Given the description of an element on the screen output the (x, y) to click on. 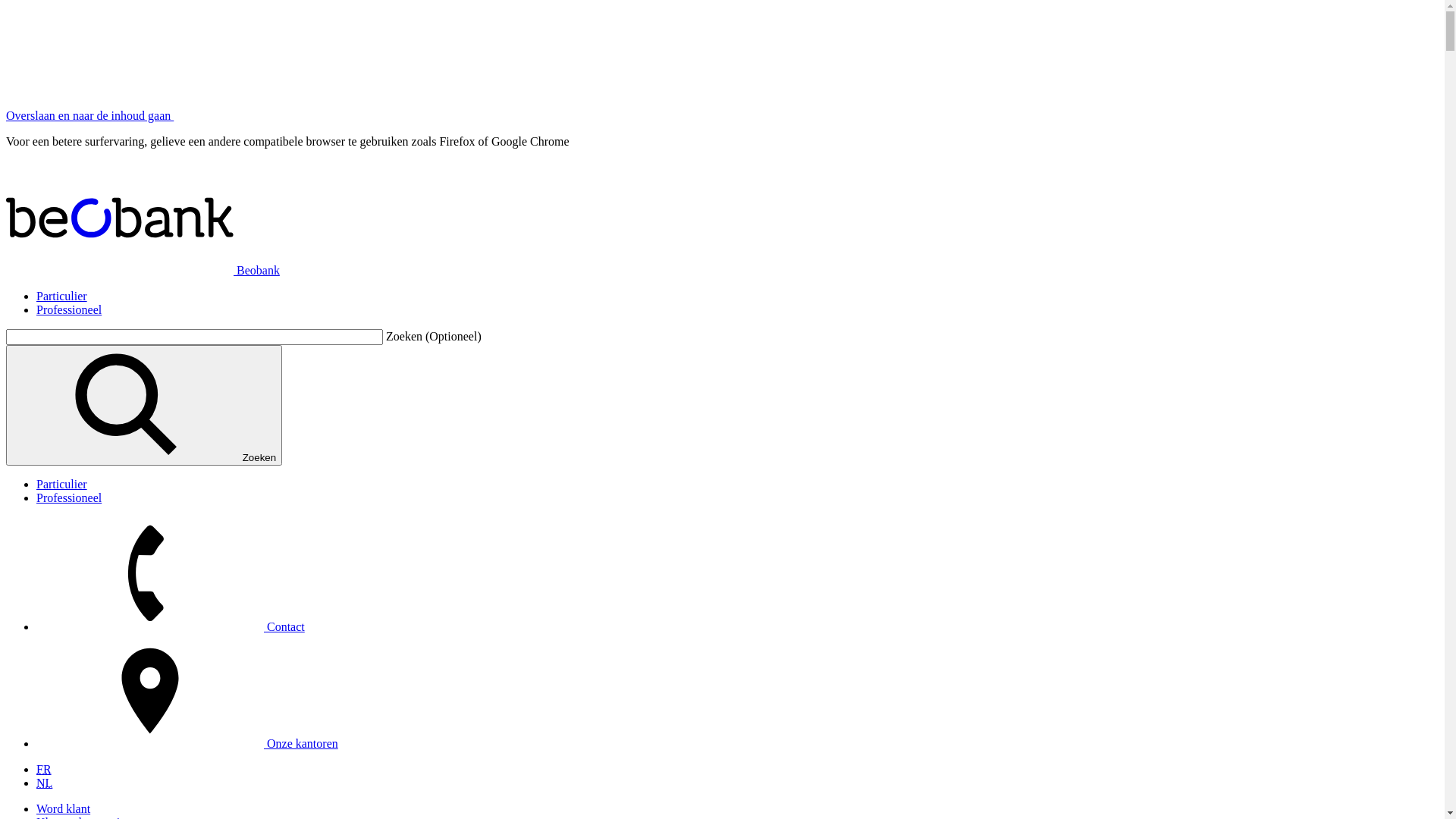
NL Element type: text (44, 782)
Contact Element type: text (170, 626)
Professioneel Element type: text (68, 497)
Word klant Element type: text (63, 808)
Particulier Element type: text (61, 295)
Beobank Element type: text (142, 269)
Particulier Element type: text (61, 483)
Zoeken Element type: text (144, 405)
FR Element type: text (43, 768)
Professioneel Element type: text (68, 309)
Overslaan en naar de inhoud gaan Element type: text (89, 115)
Onze kantoren Element type: text (187, 743)
